Given the description of an element on the screen output the (x, y) to click on. 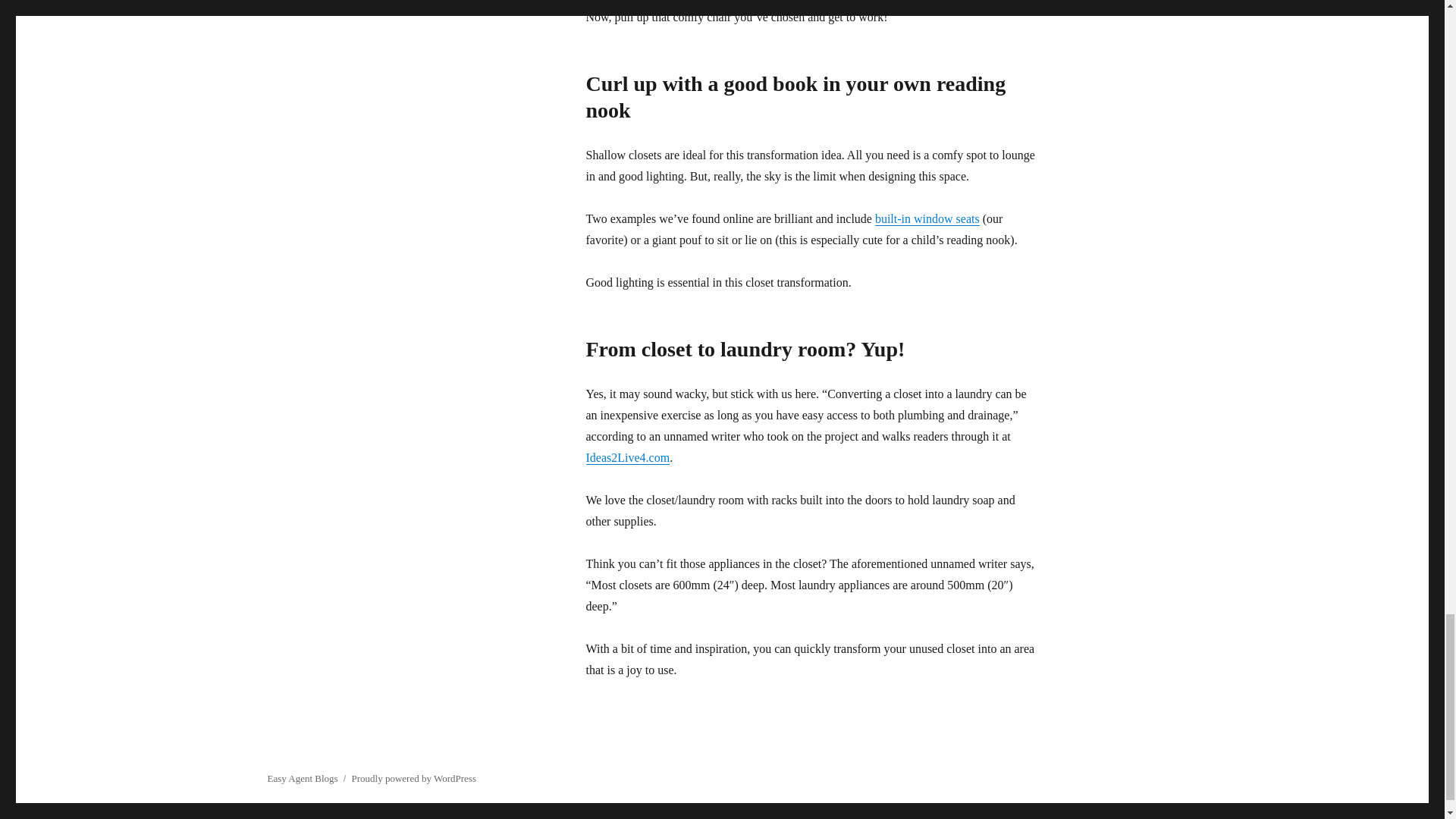
built-in window seats (927, 218)
Proudly powered by WordPress (414, 778)
Easy Agent Blogs (301, 778)
Ideas2Live4.com (627, 457)
